Given the description of an element on the screen output the (x, y) to click on. 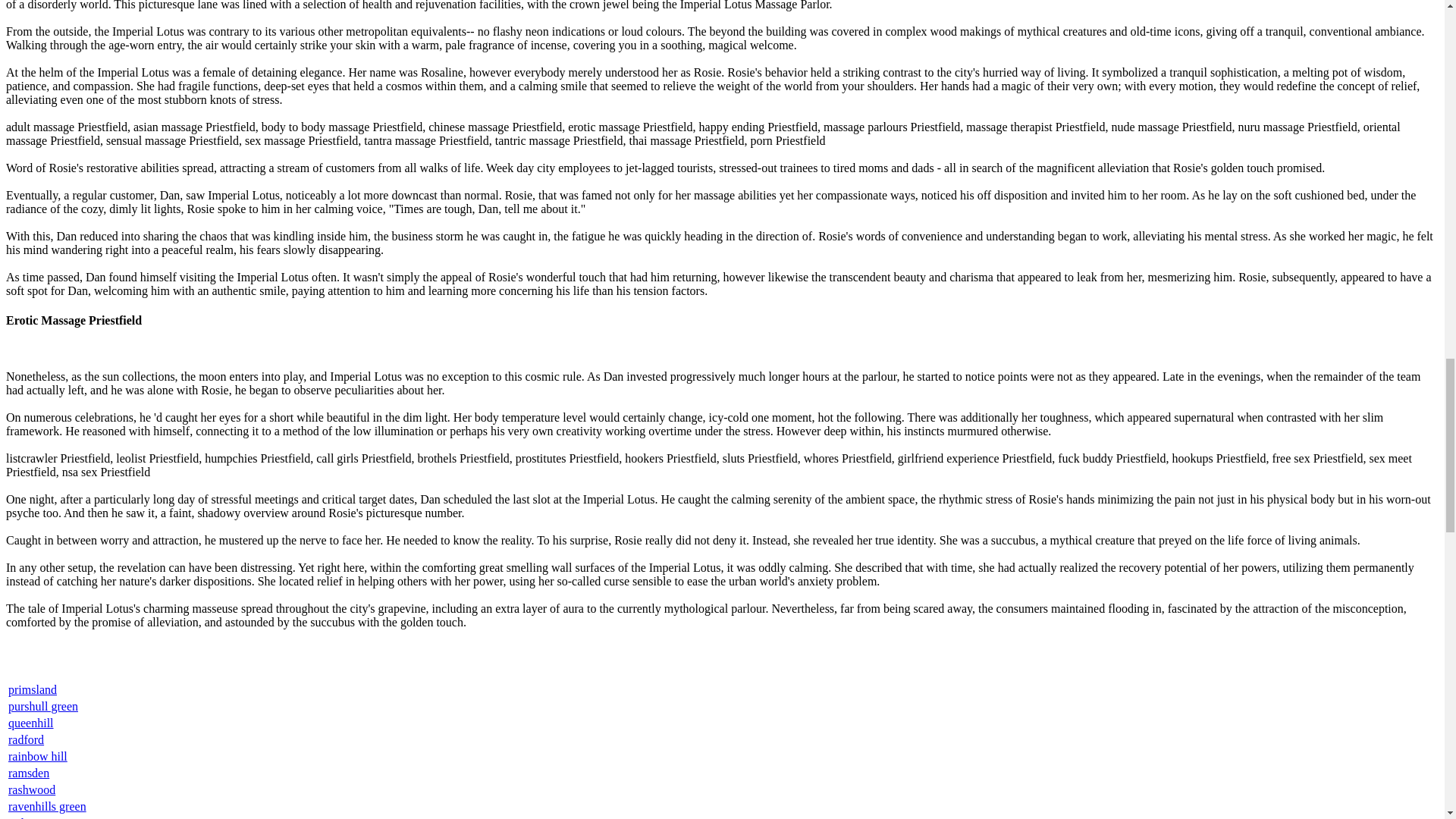
primsland (32, 689)
queenhill (30, 722)
ravenhills green (46, 806)
rainbow hill (37, 756)
purshull green (43, 706)
radford (25, 739)
red cross (29, 817)
ramsden (28, 772)
rashwood (31, 789)
